Given the description of an element on the screen output the (x, y) to click on. 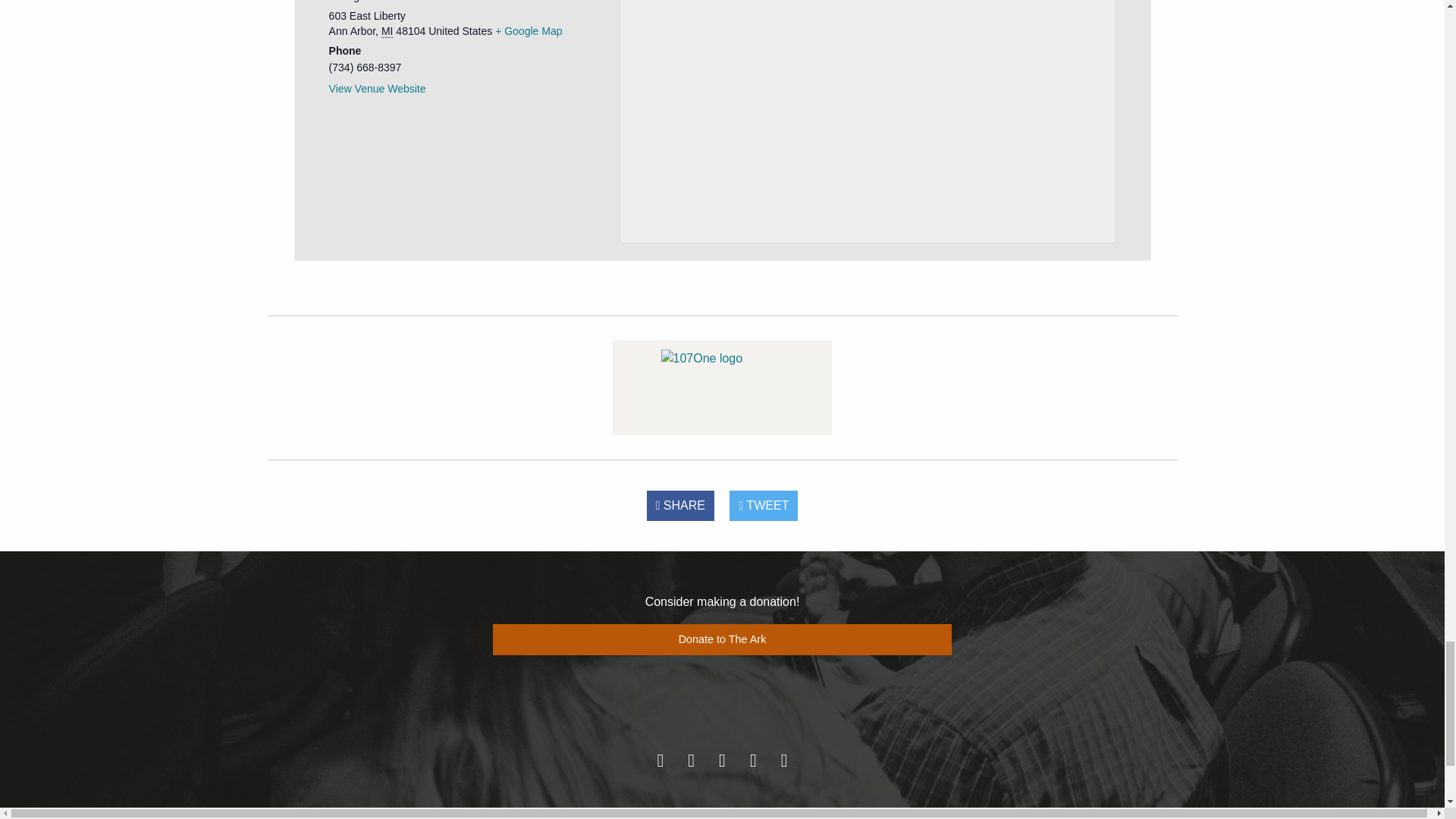
Click to view a Google Map (528, 30)
Michigan (387, 31)
